Given the description of an element on the screen output the (x, y) to click on. 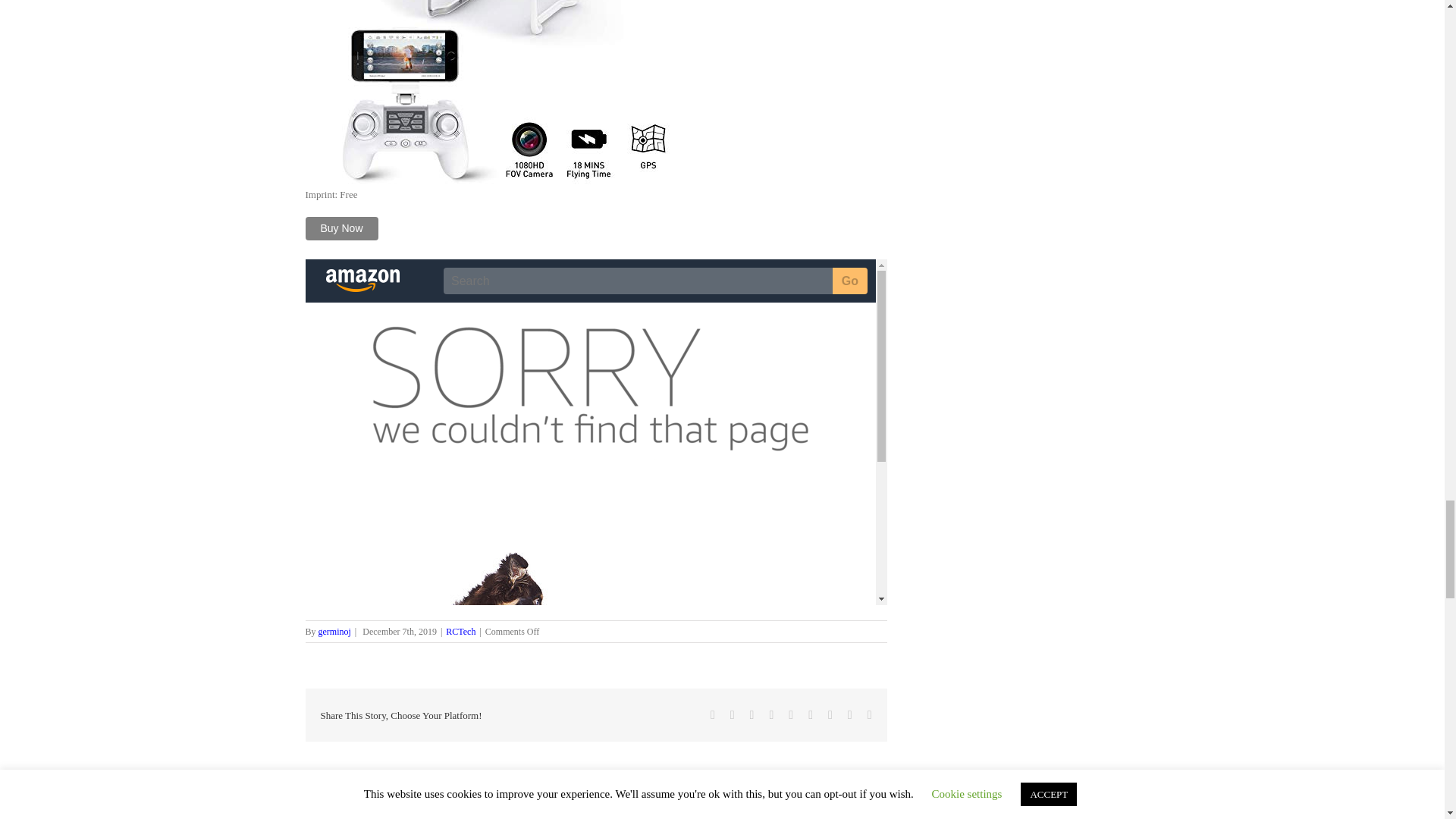
germinoj (334, 631)
RCTech (460, 631)
Posts by germinoj (432, 792)
Posts by germinoj (334, 631)
Buy Now (340, 228)
